Given the description of an element on the screen output the (x, y) to click on. 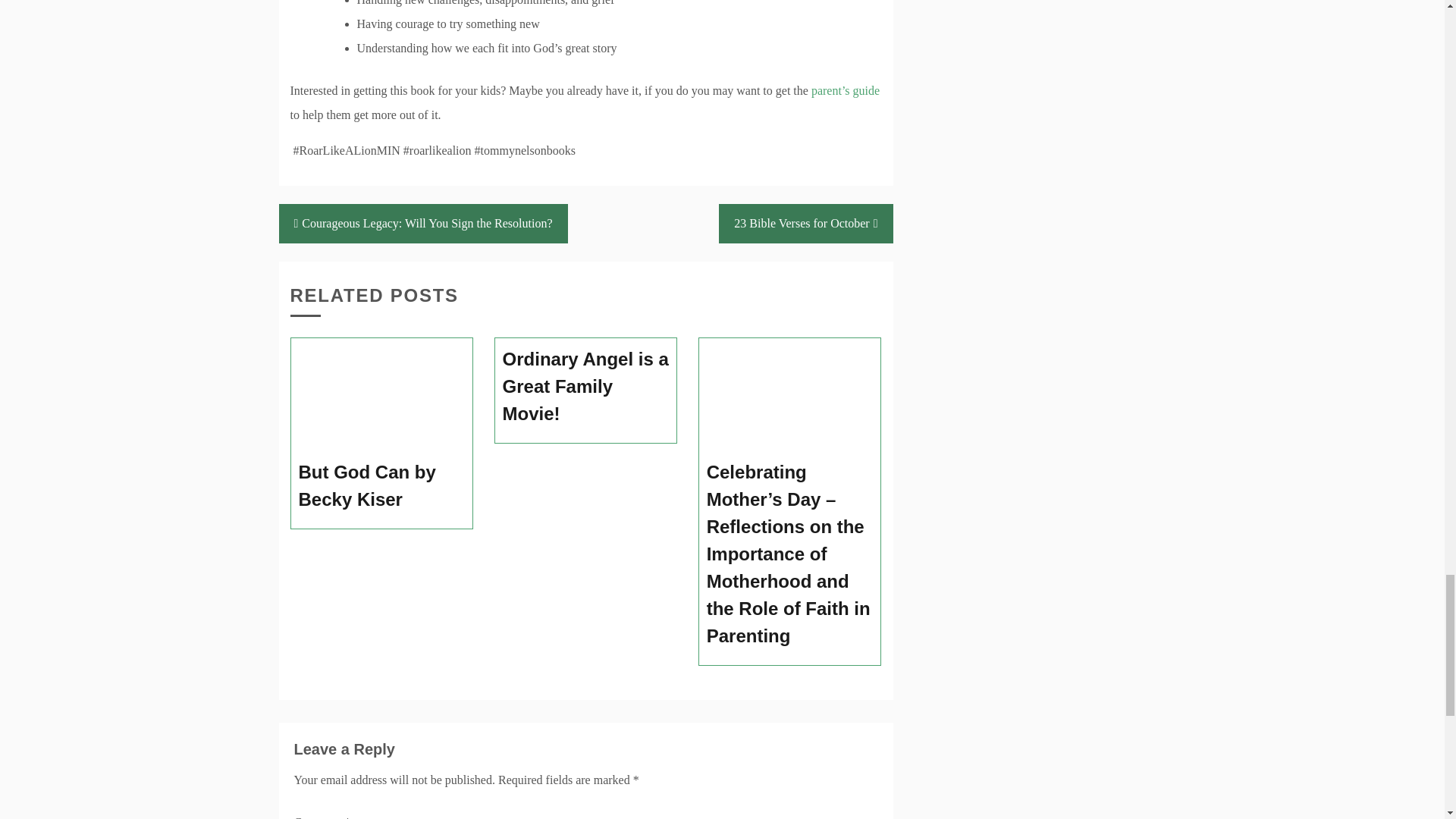
Ordinary Angel is a Great Family Movie! (585, 386)
Courageous Legacy: Will You Sign the Resolution? (423, 223)
23 Bible Verses for October (805, 223)
But God Can by Becky Kiser (381, 485)
